Given the description of an element on the screen output the (x, y) to click on. 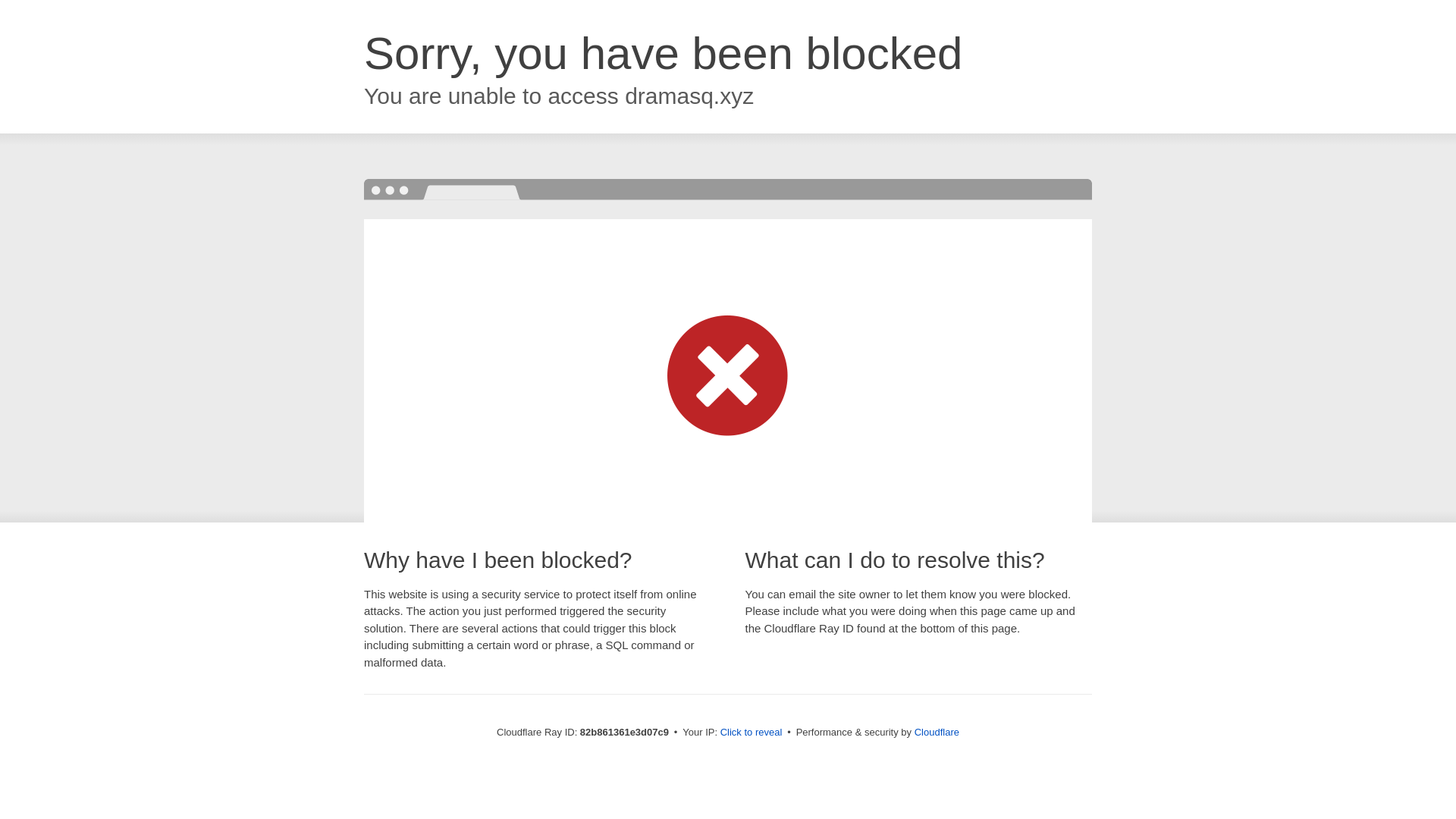
Cloudflare Element type: text (936, 731)
Click to reveal Element type: text (751, 732)
